Given the description of an element on the screen output the (x, y) to click on. 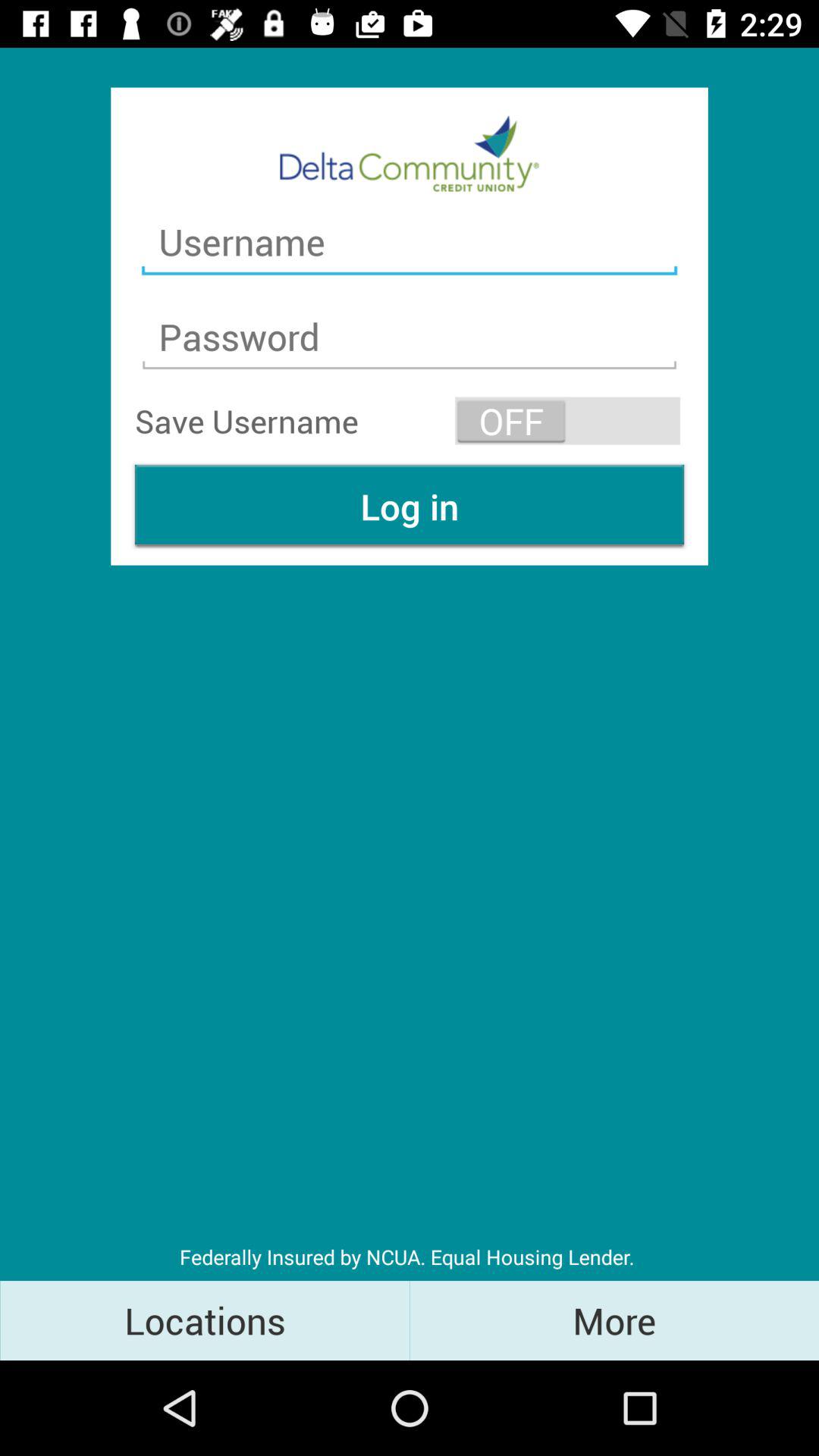
tap the item at the top right corner (567, 420)
